Given the description of an element on the screen output the (x, y) to click on. 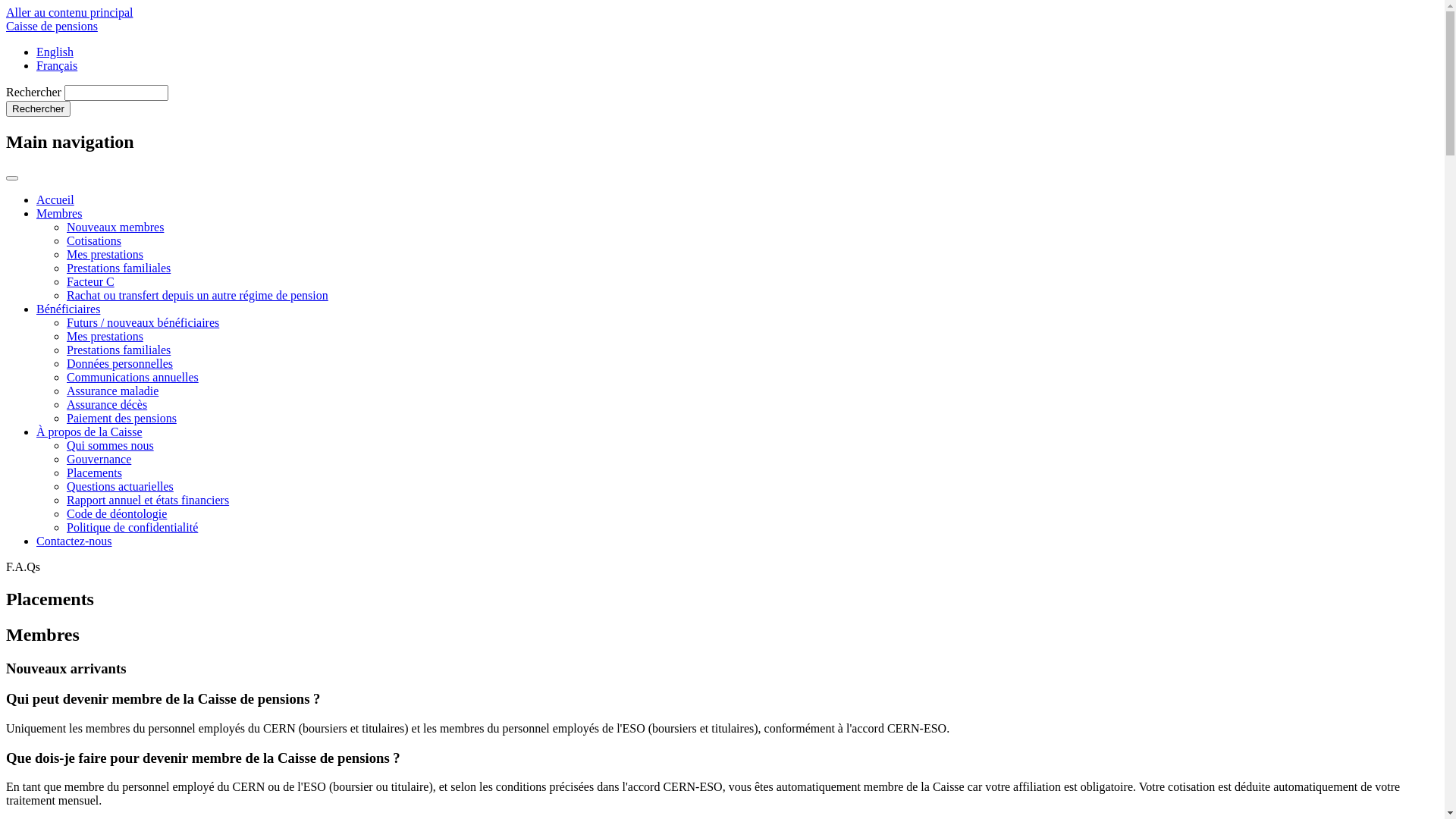
Accueil Element type: text (55, 199)
Aller au contenu principal Element type: text (69, 12)
Assurance maladie Element type: text (112, 390)
English Element type: text (54, 51)
Caisse de pensions Element type: text (51, 25)
Communications annuelles Element type: text (132, 376)
Nouveaux membres Element type: text (114, 226)
Gouvernance Element type: text (98, 458)
Mes prestations Element type: text (104, 253)
Contactez-nous Element type: text (74, 540)
Facteur C Element type: text (90, 281)
Questions actuarielles Element type: text (119, 486)
Qui sommes nous Element type: text (109, 445)
Cotisations Element type: text (93, 240)
Paiement des pensions Element type: text (121, 417)
Placements Element type: text (94, 472)
Membres Element type: text (58, 213)
Rechercher Element type: text (38, 108)
Prestations familiales Element type: text (118, 267)
Mes prestations Element type: text (104, 335)
Prestations familiales Element type: text (118, 349)
